Given the description of an element on the screen output the (x, y) to click on. 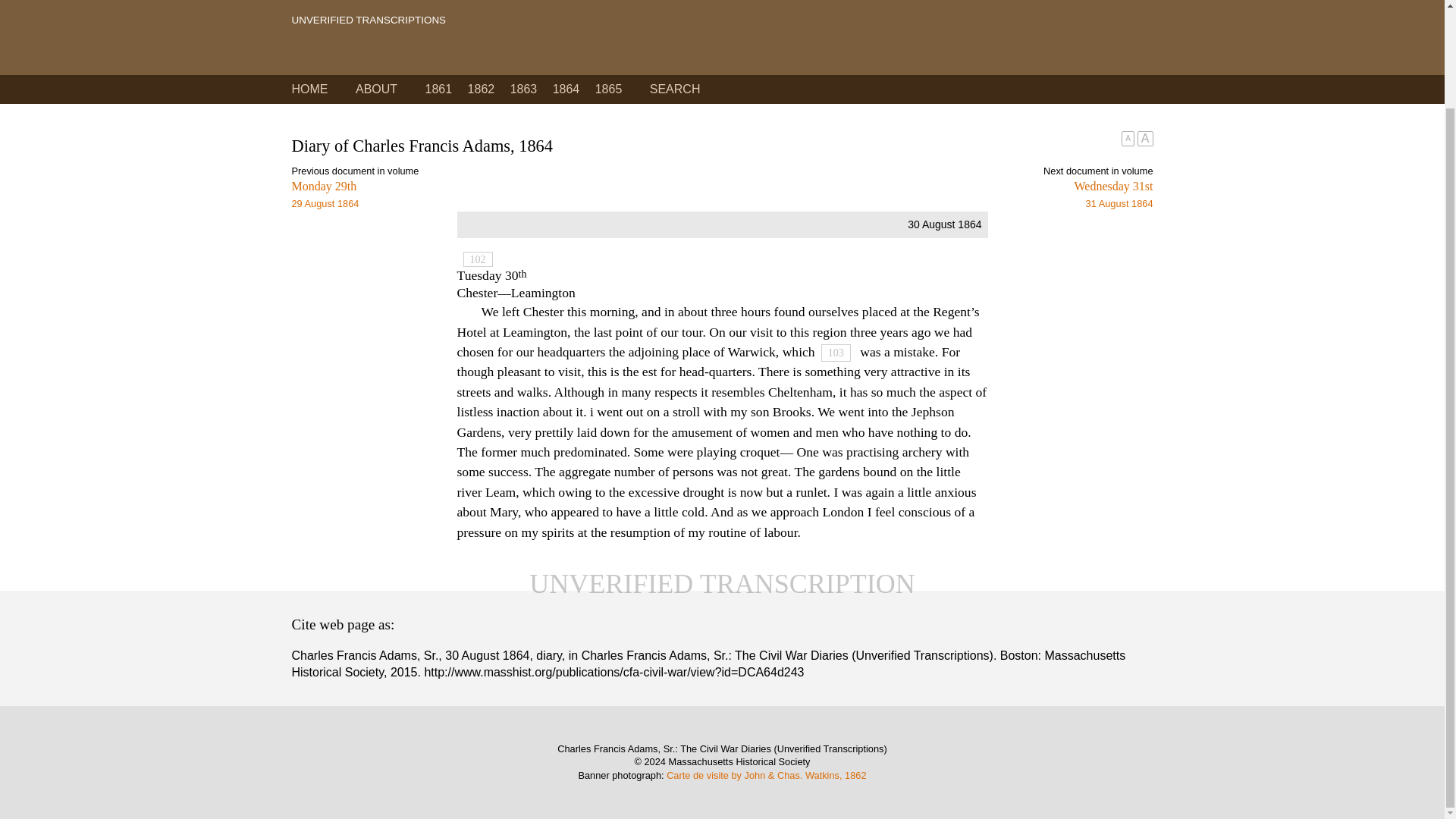
1864 (566, 89)
1861 (438, 89)
ABOUT (376, 89)
1862 (480, 89)
1863 (523, 89)
HOME (937, 195)
Manuscript page break (506, 195)
Manuscript page break (309, 89)
